Given the description of an element on the screen output the (x, y) to click on. 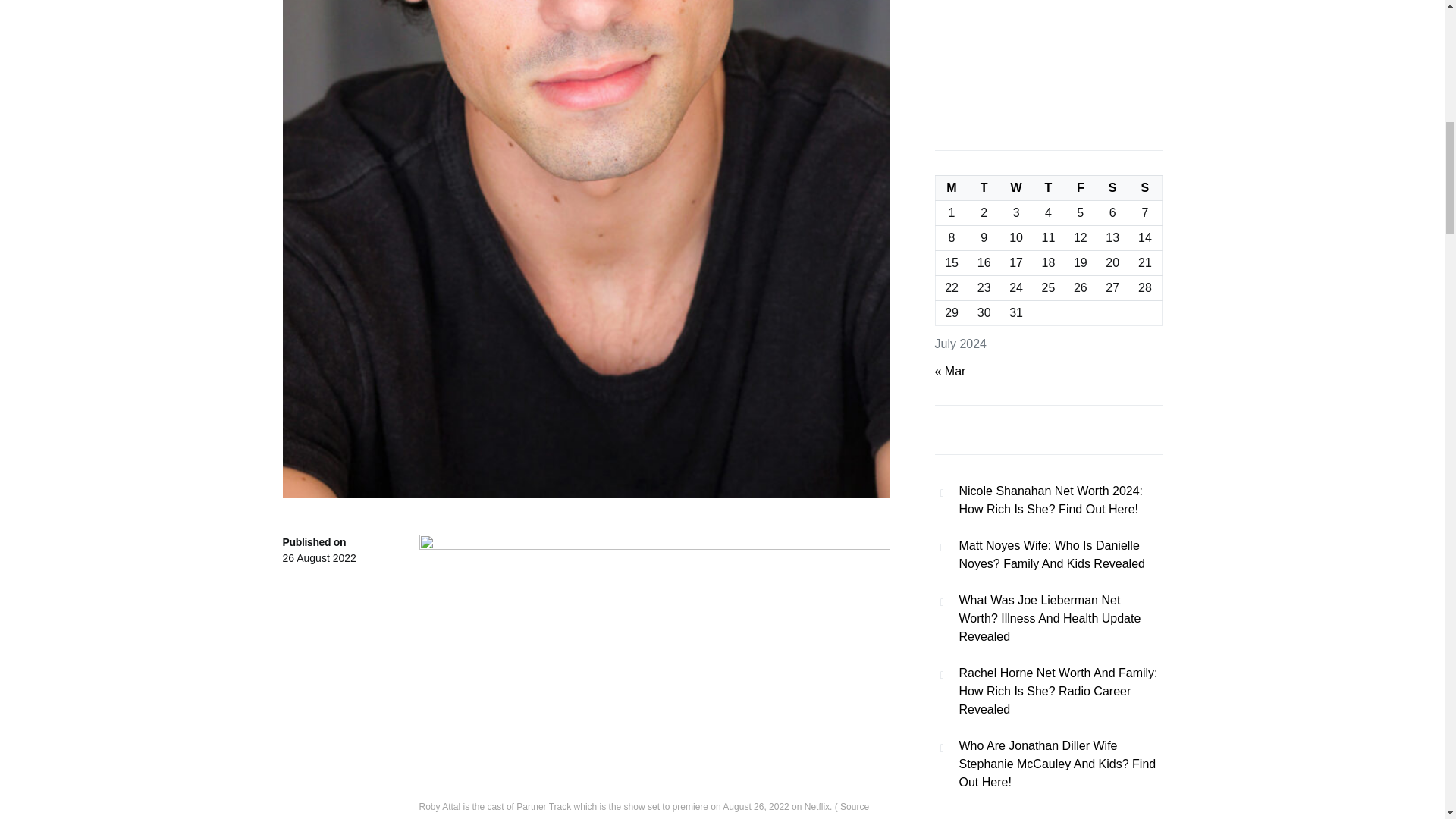
instagram  (444, 818)
